Given the description of an element on the screen output the (x, y) to click on. 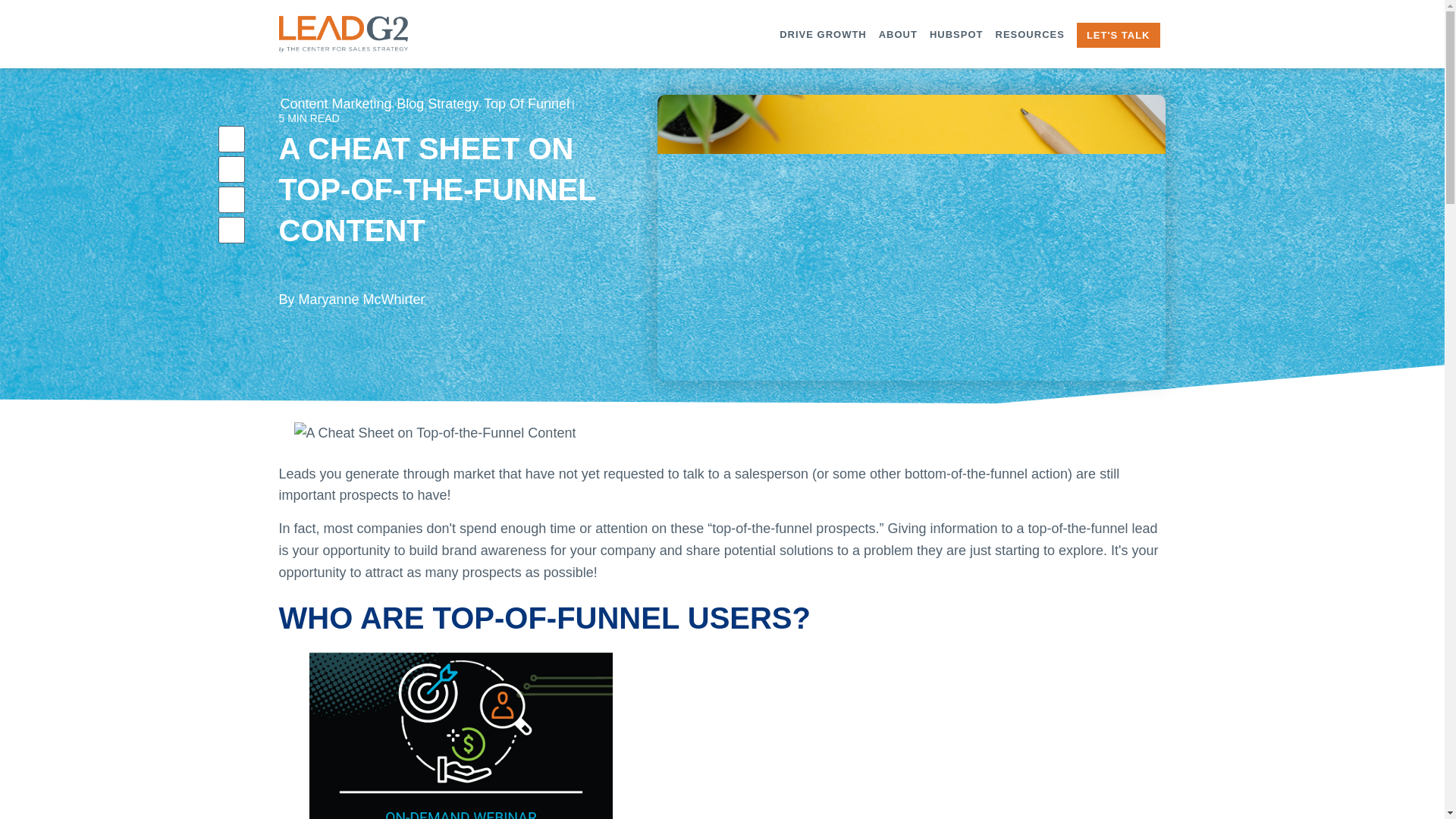
ABOUT (897, 35)
Top Of Funnel (526, 104)
Blog Strategy (437, 104)
Content Marketing (336, 104)
DRIVE GROWTH (822, 35)
LET'S TALK (1118, 34)
RESOURCES (1030, 35)
HUBSPOT (956, 35)
By Maryanne McWhirter (352, 289)
